Given the description of an element on the screen output the (x, y) to click on. 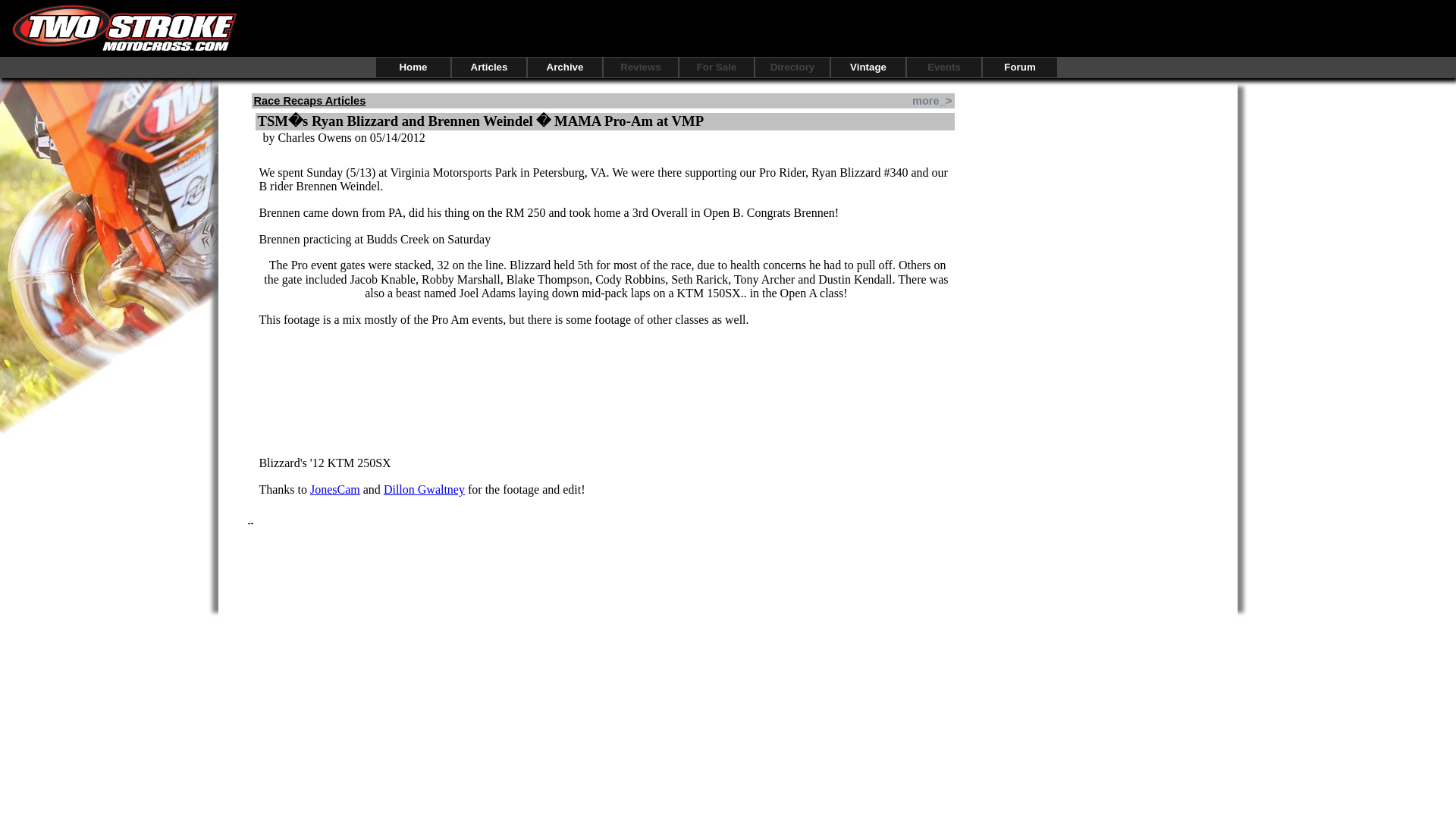
For Sale (716, 66)
Forum (1019, 66)
Articles (488, 66)
Home (412, 66)
Events (944, 66)
Vintage (868, 66)
Archive (564, 66)
JonesCam (334, 489)
Dillon Gwaltney (424, 489)
Reviews (641, 66)
Directory (792, 66)
